Given the description of an element on the screen output the (x, y) to click on. 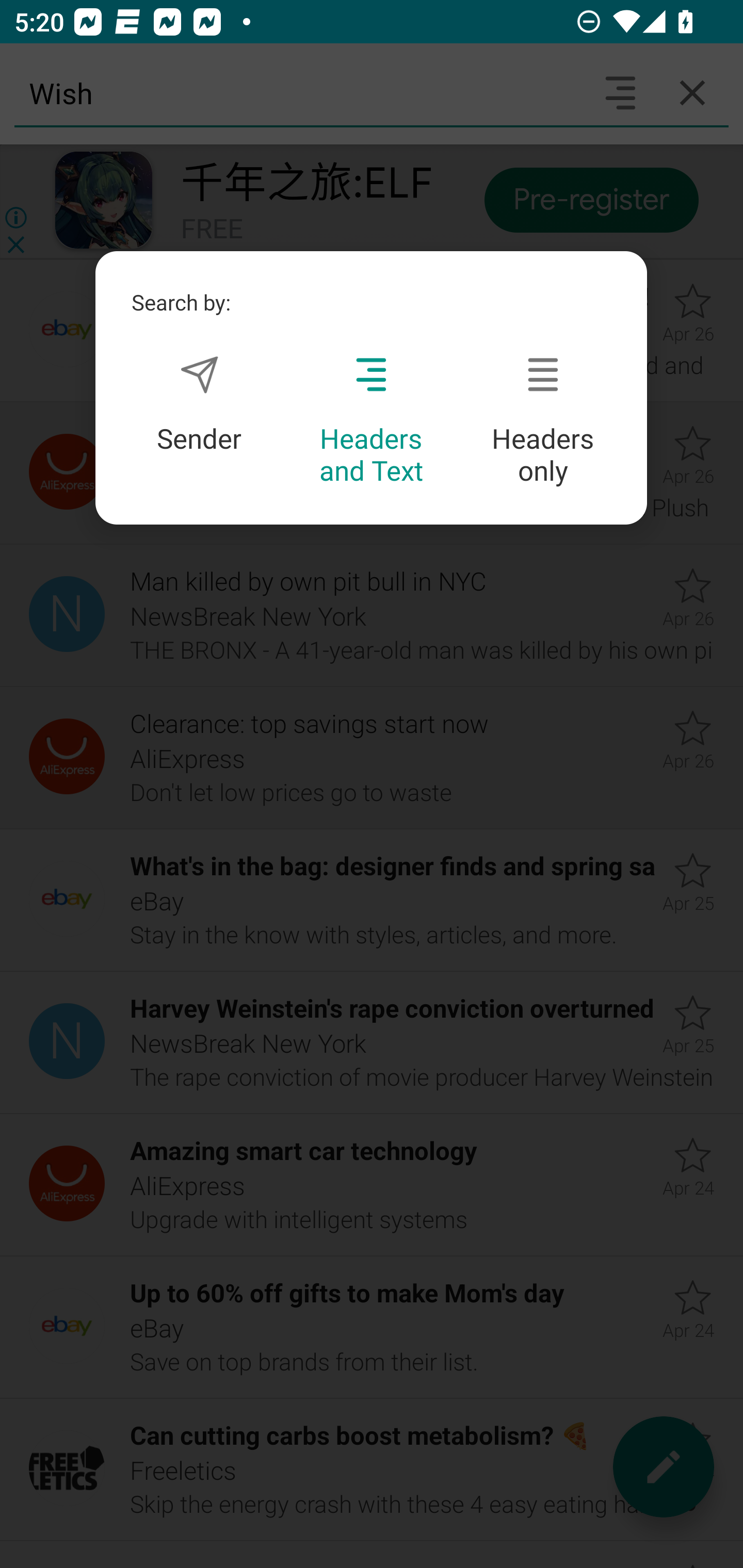
Sender (199, 404)
Headers and Text (371, 420)
Headers only (542, 420)
